Given the description of an element on the screen output the (x, y) to click on. 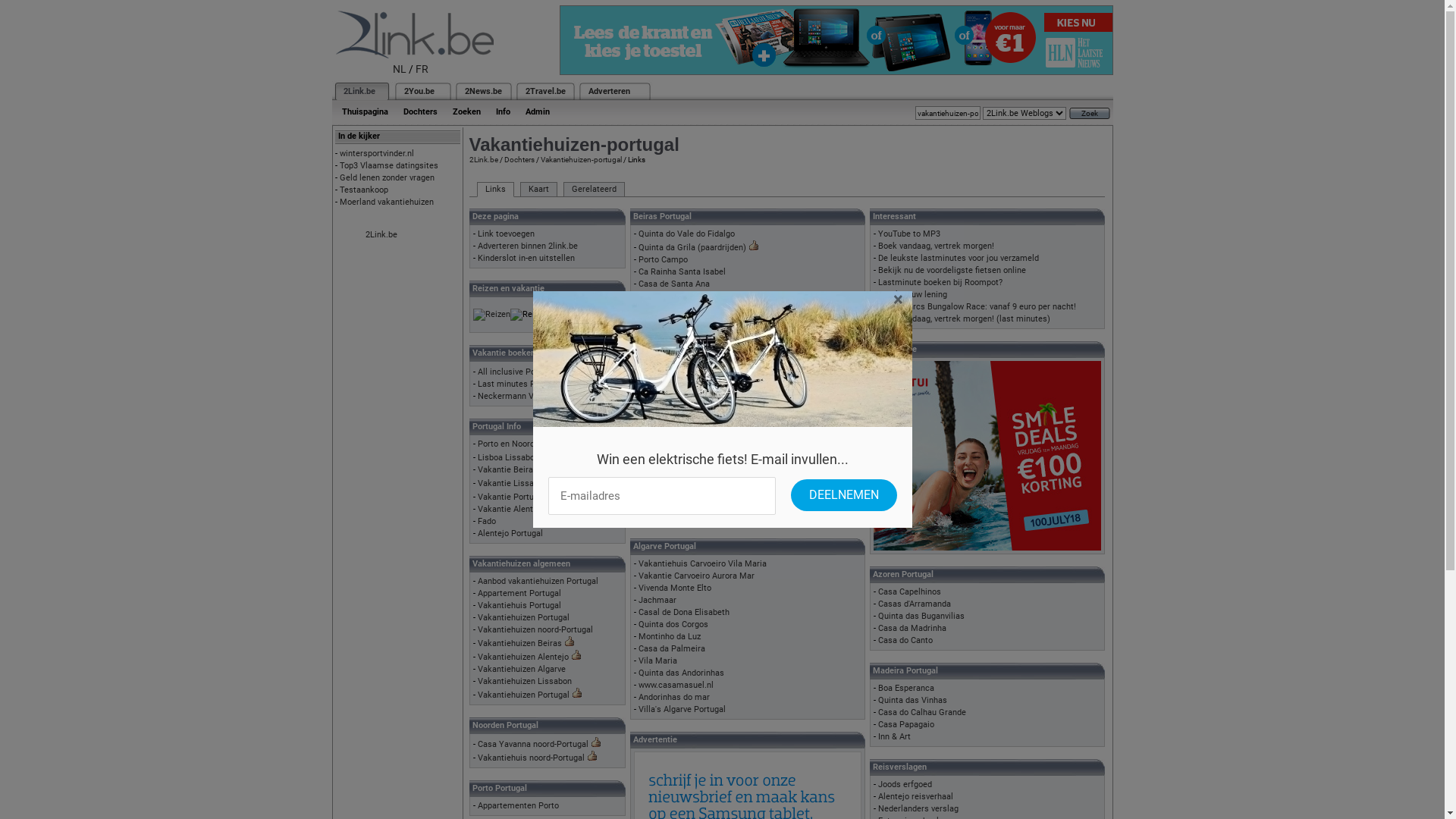
Bekijk nu de voordeligste fietsen online Element type: text (952, 270)
Vakantiehuizen Portugal Element type: text (523, 694)
Casa de Santa Ana Element type: text (673, 283)
Joods erfgoed Element type: text (904, 784)
Casa do Mar Element type: text (662, 359)
Zoeken Element type: text (465, 111)
Vakantiehuizen Alentejo Element type: text (522, 657)
Casita Oliva Element type: text (661, 431)
Villa's Algarve Portugal Element type: text (681, 709)
Aanbod vakantiehuizen Portugal Element type: text (537, 581)
YouTube to MP3 Element type: text (909, 233)
Vakantie Portugal Element type: text (511, 497)
Quinta das Andorinhas Element type: text (681, 672)
Geld lenen zonder vragen Element type: text (386, 177)
Porto en Noorden info Element type: text (518, 443)
Vakantiehuizen noord-Portugal Element type: text (535, 629)
Vakantiehuizen Portugal Element type: text (523, 617)
Vivenda Monte Elto Element type: text (674, 588)
Bereken uw lening Element type: text (912, 294)
Cova Loba Element type: text (657, 371)
Altis Suits appartementen Element type: text (687, 345)
Casa do Canto Element type: text (905, 640)
Vakantiehuis Portugal Element type: text (519, 605)
No Campo Element type: text (657, 515)
CenterParcs Bungalow Race: vanaf 9 euro per nacht! Element type: text (977, 306)
2Link.be Element type: text (381, 234)
Vakantie Beiras Element type: text (507, 469)
2Link.be Element type: text (482, 159)
Quinta do Vale do Fidalgo Element type: text (686, 233)
Dochters Element type: text (518, 159)
Vakantie Alentejo Element type: text (510, 509)
All inclusive Portugal Element type: text (517, 371)
Inn & Art Element type: text (894, 736)
Vakantie Lissabon en regio Element type: text (528, 483)
www.casamasuel.nl Element type: text (675, 685)
Neckermann Vliegvakantie Element type: text (528, 396)
Alentejo Portugal Element type: text (509, 533)
Nederlanders verslag Element type: text (918, 808)
Boa Esperanca Element type: text (906, 688)
2You.be Element type: text (418, 91)
Gerelateerd Element type: text (593, 189)
Vakantiehuis Carvoeiro Vila Maria Element type: text (702, 563)
Quinta da Grila (paardrijden) Element type: text (692, 247)
Link toevoegen Element type: text (505, 233)
Casa do Calhau Grande Element type: text (922, 712)
Quinta das Buganvilias Element type: text (921, 616)
Boek vandaag, vertrek morgen! (last minutes) Element type: text (964, 318)
Lastminute boeken bij Roompot? Element type: text (940, 282)
Vakantiehuizen Beiras Element type: text (519, 643)
Kaart Element type: text (538, 189)
Thuispagina Element type: text (364, 111)
Lisboa Lissabon Element type: text (508, 457)
Fado Element type: text (486, 521)
Moerland vakantiehuizen Element type: text (386, 202)
Porto Campo Element type: text (662, 259)
Info Element type: text (502, 111)
Montinho da Luz Element type: text (669, 636)
Casa da Palmeira Element type: text (671, 648)
Tres Arenques Element type: text (665, 491)
Vila Maria Element type: text (657, 660)
Vakantiehuizen-portugal Element type: text (580, 159)
Top3 Vlaamse datingsites Element type: text (388, 165)
Casa Capelhinos Element type: text (909, 591)
Casa da Madrinha Element type: text (912, 628)
Jachmaar Element type: text (657, 600)
FR Element type: text (421, 68)
Alentejo reisverhaal Element type: text (915, 796)
Links Element type: text (494, 189)
Vakantiehuizen Pomarinho Element type: text (688, 467)
2Link.be Element type: text (358, 91)
2News.be Element type: text (482, 91)
Casas d'Arramanda Element type: text (914, 603)
Boek vandaag, vertrek morgen! Element type: text (936, 246)
Casa da Madragoa Element type: text (673, 333)
Last minutes Portugal Element type: text (519, 384)
Casal de Dona Elisabeth Element type: text (683, 612)
Vakantiehuizen Lissabon Element type: text (524, 681)
Vakantie Carvoeiro Aurora Mar Element type: text (696, 575)
Quinta das Vinhas Element type: text (912, 700)
Vakantiehuis noord-Portugal Element type: text (530, 757)
Testaankoop Element type: text (363, 189)
Casa Papagaio Element type: text (906, 724)
Monte do Vale Porquinhas Element type: text (687, 443)
Admin Element type: text (536, 111)
Kinderslot in-en uitstellen Element type: text (525, 258)
Adverteren binnen 2link.be Element type: text (527, 246)
Dochters Element type: text (420, 111)
Appartement 4 pers. Element type: text (676, 503)
Vakantiehuizen Algarve Element type: text (521, 669)
Appartement Portugal Element type: text (519, 593)
2Travel.be Element type: text (544, 91)
Casa Yavanna noord-Portugal Element type: text (532, 744)
Andorinhas do mar Element type: text (673, 697)
Azenha do Ramalho Element type: text (675, 455)
Appartementen Porto Element type: text (517, 805)
Bij ons in de Alentejo... Element type: text (681, 418)
Adverteren Element type: text (609, 91)
Ca Rainha Santa Isabel Element type: text (681, 271)
Quinta dos Corgos Element type: text (673, 624)
Zoek Element type: text (1089, 113)
Olival das Hortas Element type: text (670, 479)
wintersportvinder.nl Element type: text (376, 153)
De leukste lastminutes voor jou verzameld Element type: text (958, 258)
NL Element type: text (399, 68)
